Given the description of an element on the screen output the (x, y) to click on. 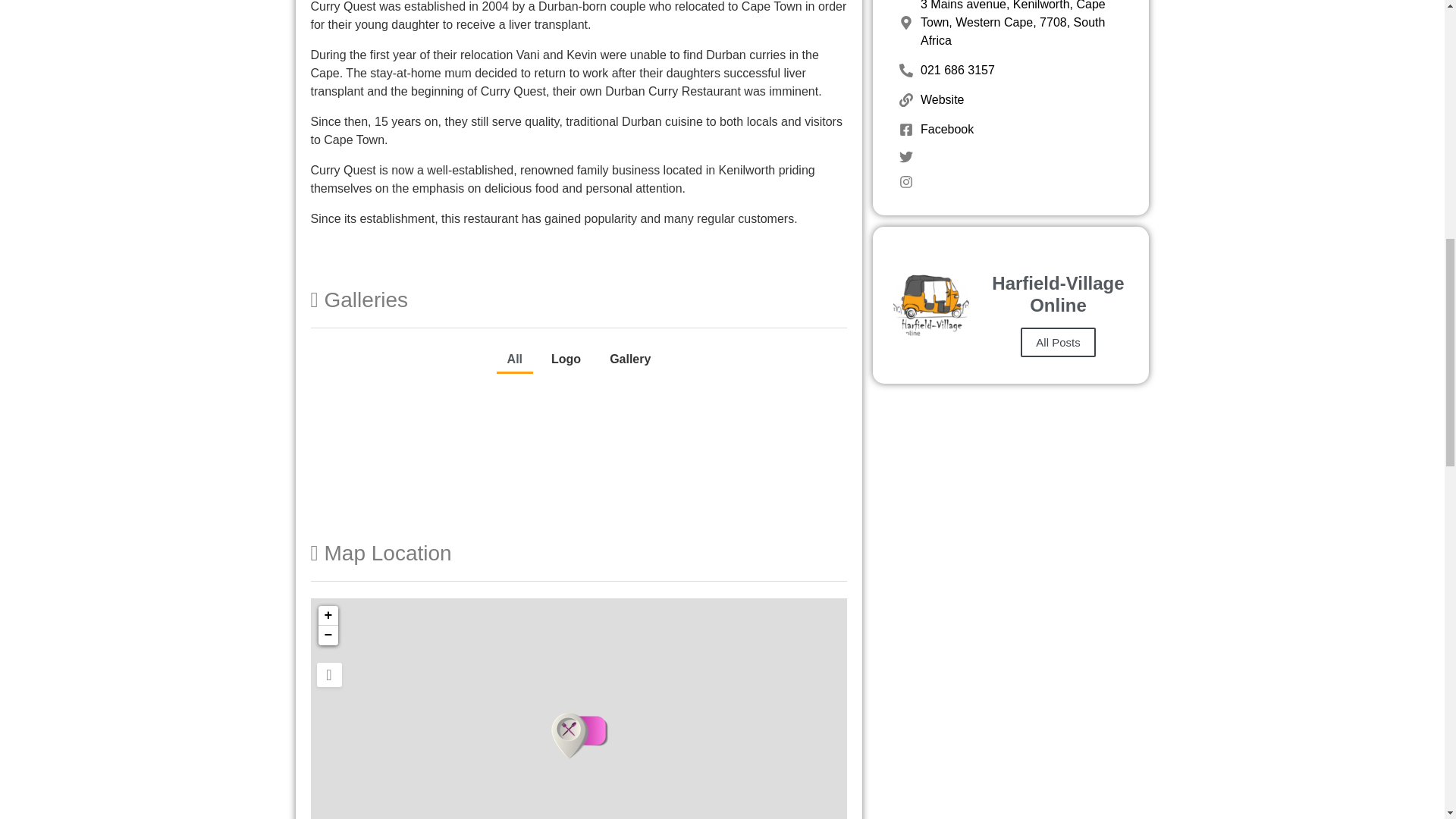
Zoom out (327, 635)
Curry Quest (579, 735)
Zoom in (327, 615)
